Given the description of an element on the screen output the (x, y) to click on. 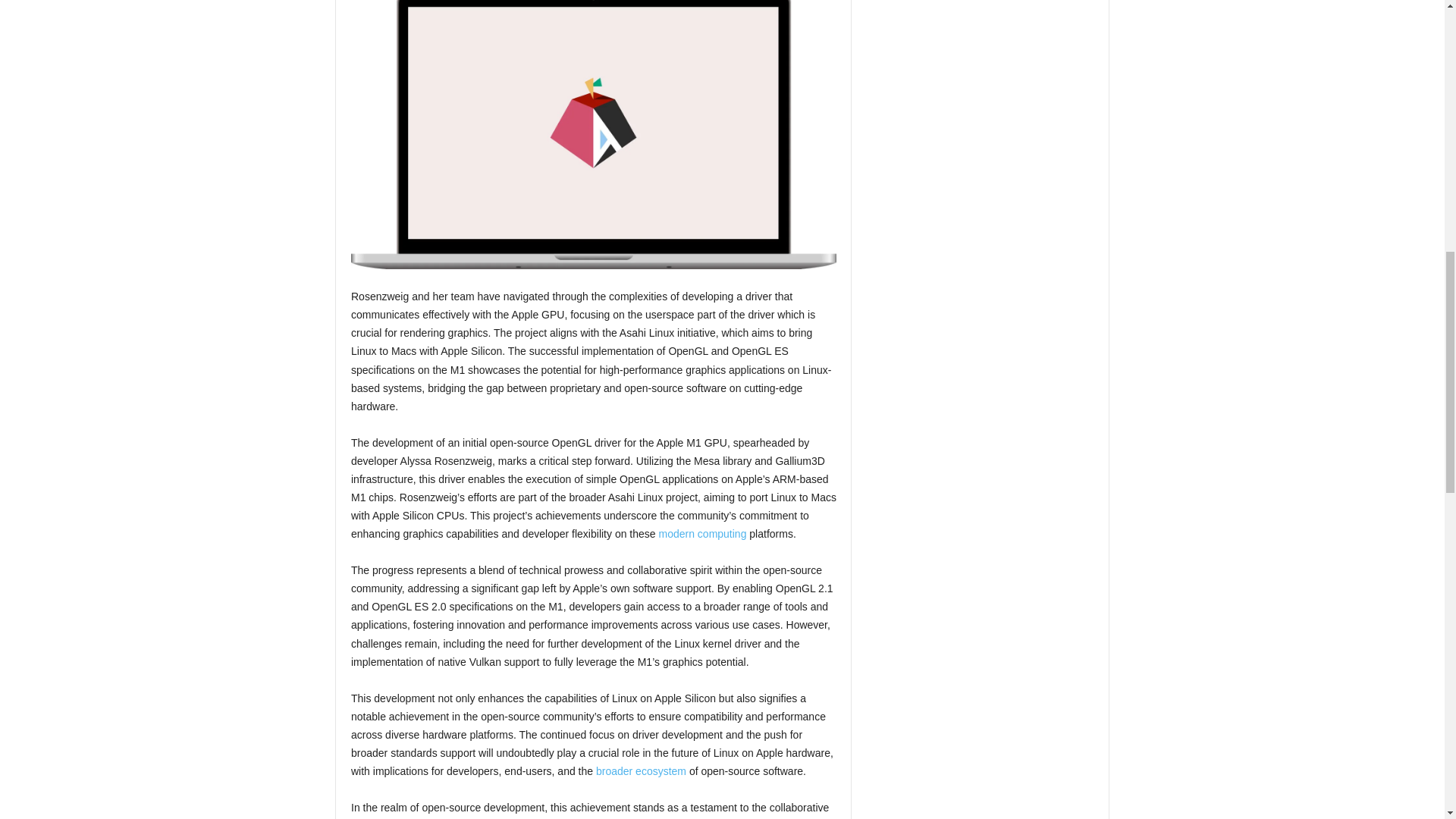
broader ecosystem (640, 770)
modern computing (701, 533)
